Given the description of an element on the screen output the (x, y) to click on. 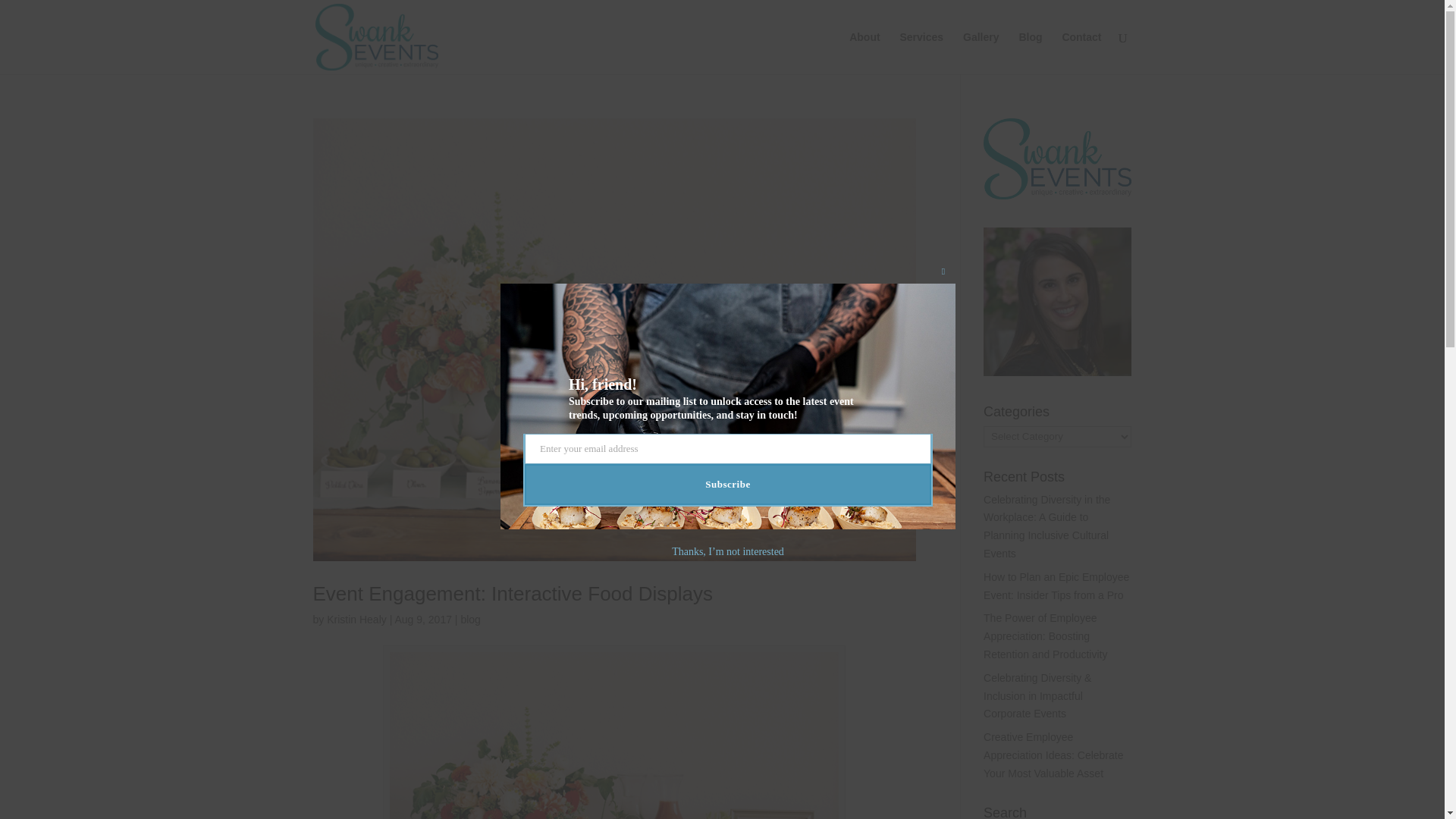
Event Engagement: Interactive Food Displays (513, 593)
Contact (1080, 52)
Gallery (980, 52)
Posts by Kristin Healy (356, 619)
Close this module (943, 271)
Subscribe (728, 484)
About (863, 52)
How to Plan an Epic Employee Event: Insider Tips from a Pro (1056, 585)
blog (470, 619)
Kristin Healy (356, 619)
Services (921, 52)
Blog (1029, 52)
